Given the description of an element on the screen output the (x, y) to click on. 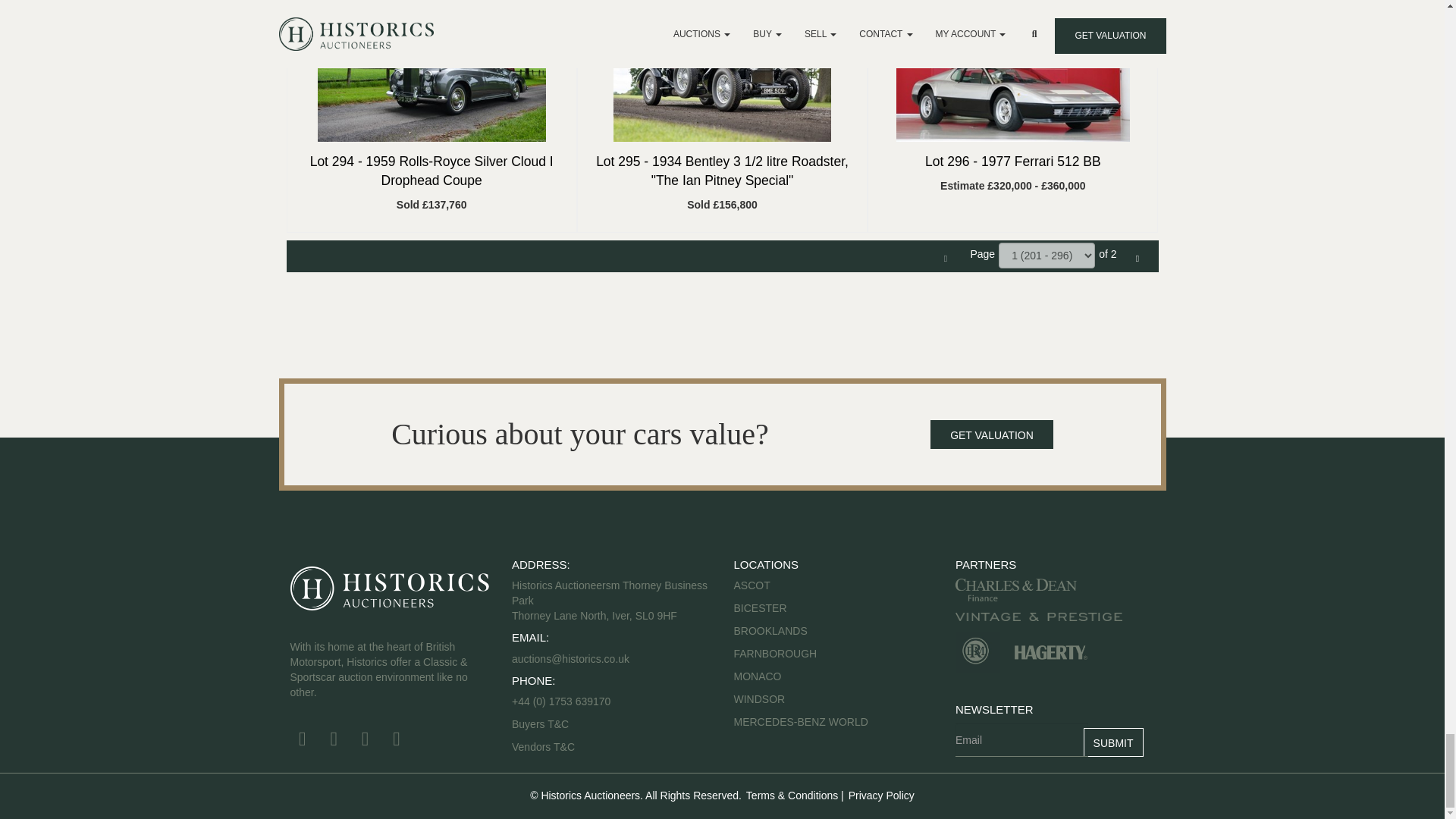
Submit (1112, 742)
